Given the description of an element on the screen output the (x, y) to click on. 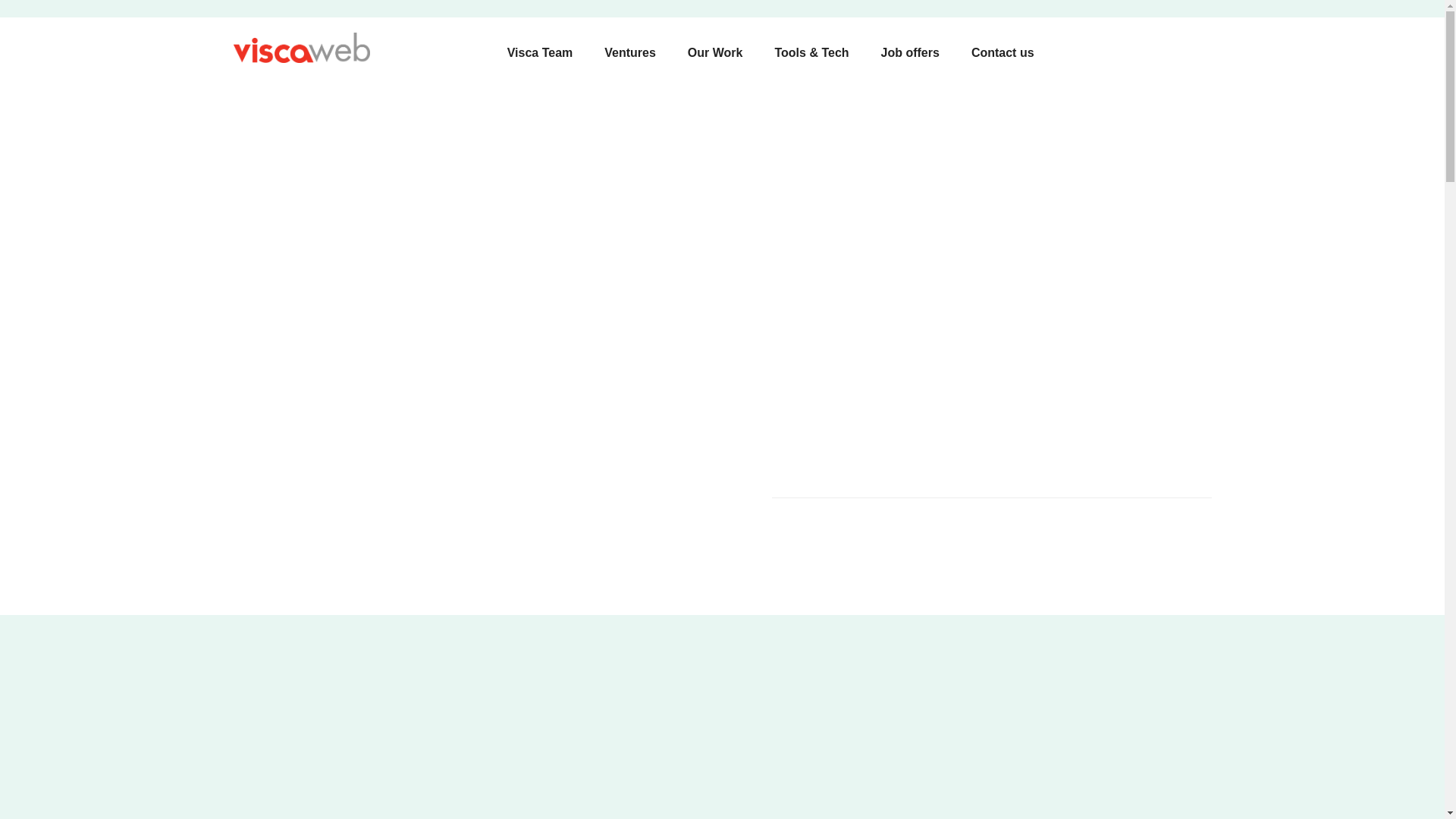
Contact us (996, 52)
Visca Team (545, 52)
Job offers (910, 52)
Our Work (715, 52)
Ventures (630, 52)
